Given the description of an element on the screen output the (x, y) to click on. 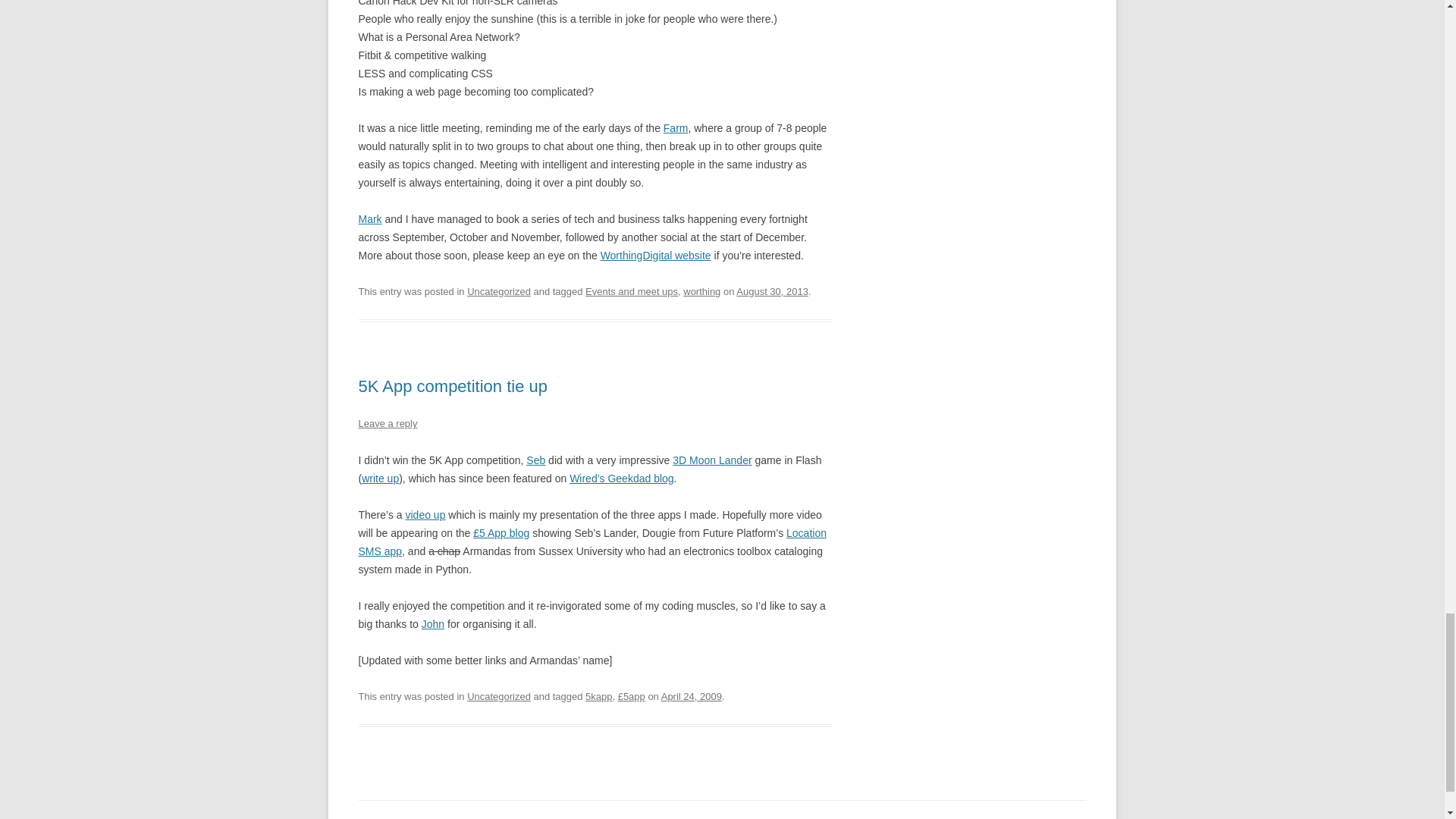
video up (424, 514)
write up (379, 478)
Events and meet ups (631, 291)
worthing (701, 291)
Leave a reply (387, 423)
12:43 pm (772, 291)
Uncategorized (499, 291)
John (433, 623)
Farm (675, 128)
Seb (534, 460)
6:03 pm (691, 696)
5K App competition tie up (452, 385)
3D Moon Lander (711, 460)
Uncategorized (499, 696)
August 30, 2013 (772, 291)
